Given the description of an element on the screen output the (x, y) to click on. 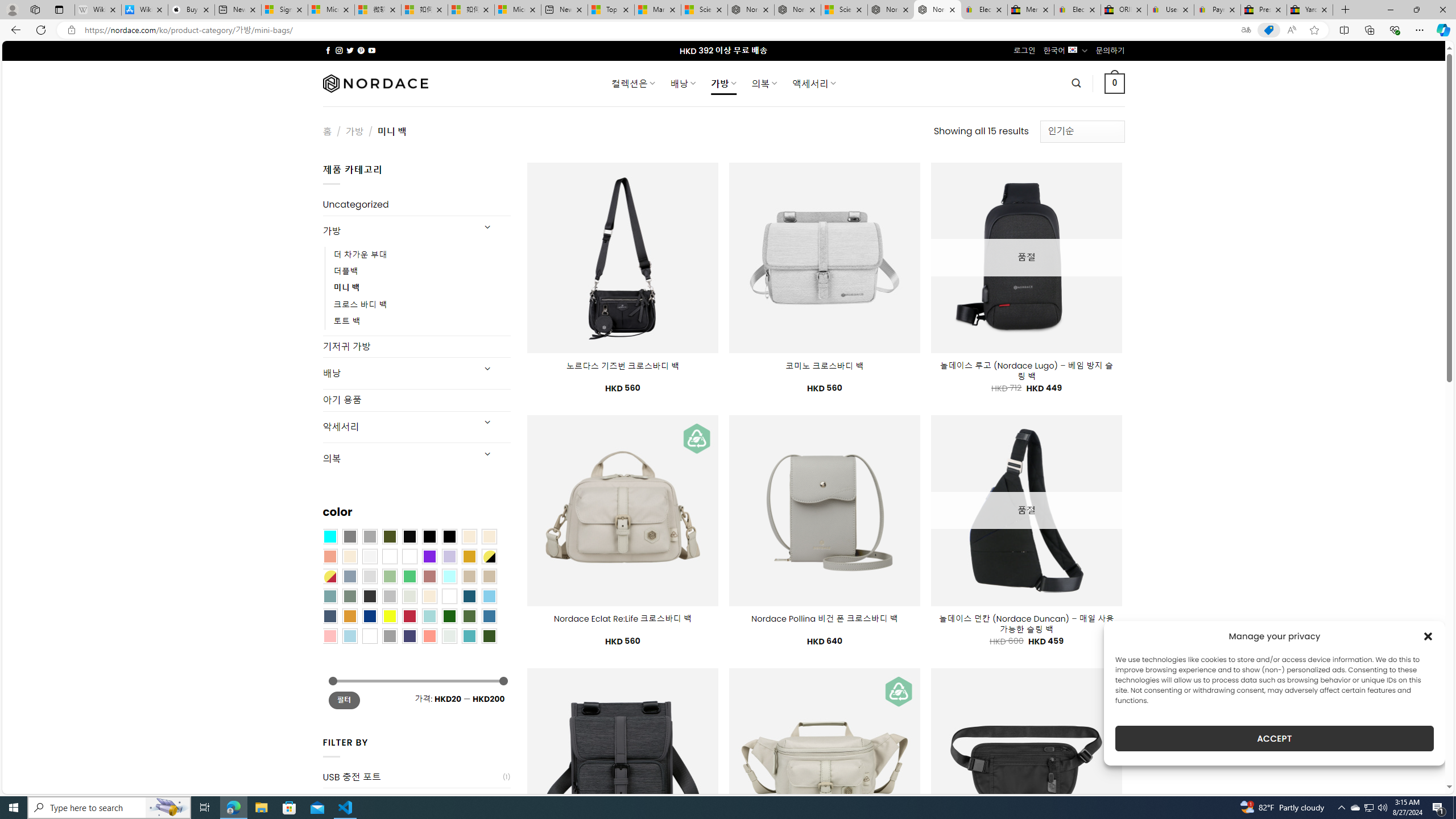
 0  (1115, 83)
